Given the description of an element on the screen output the (x, y) to click on. 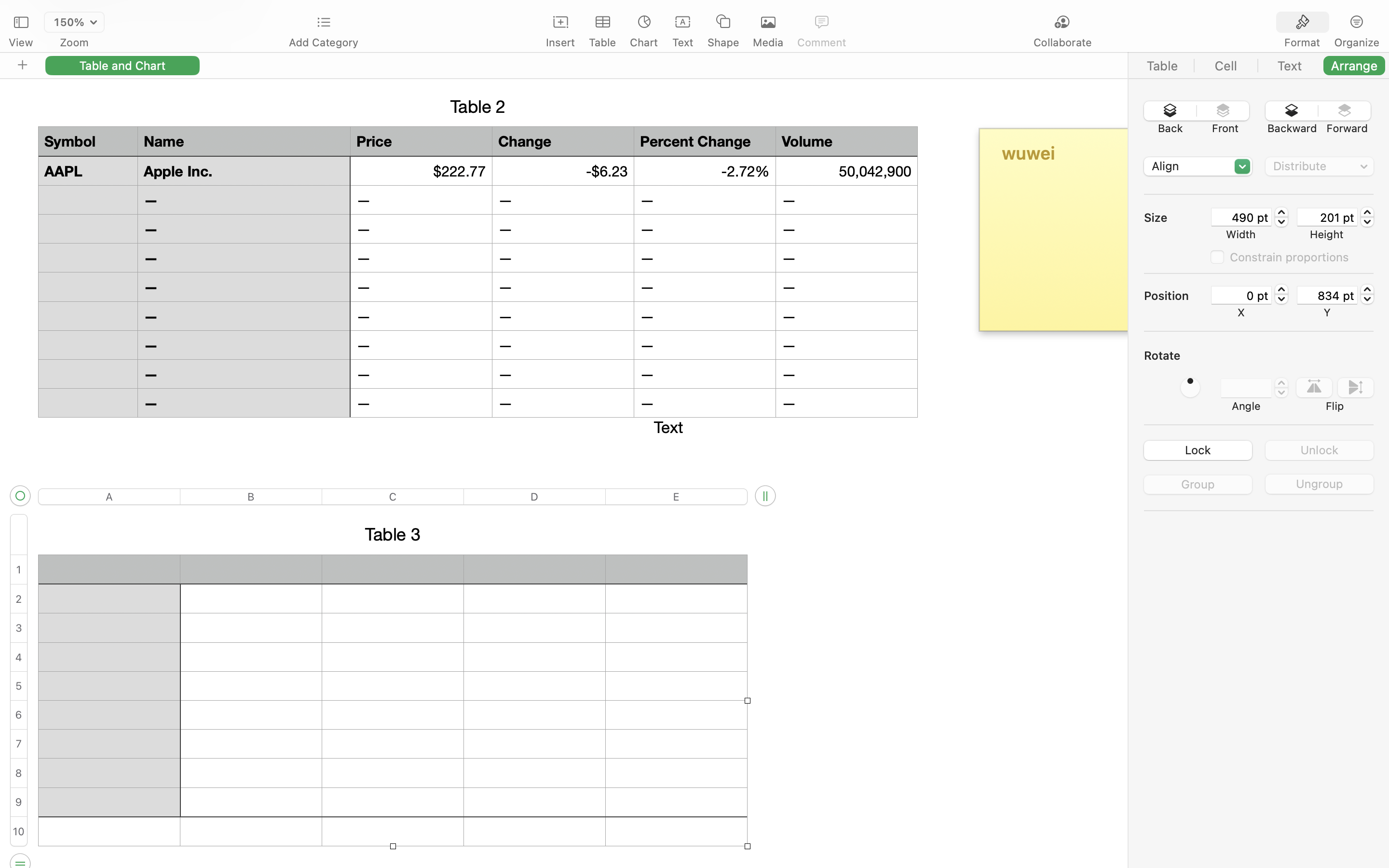
201.47987055778503 Element type: AXIncrementor (1367, 216)
834 pt Element type: AXTextField (1327, 294)
Format Element type: AXStaticText (1302, 42)
